Given the description of an element on the screen output the (x, y) to click on. 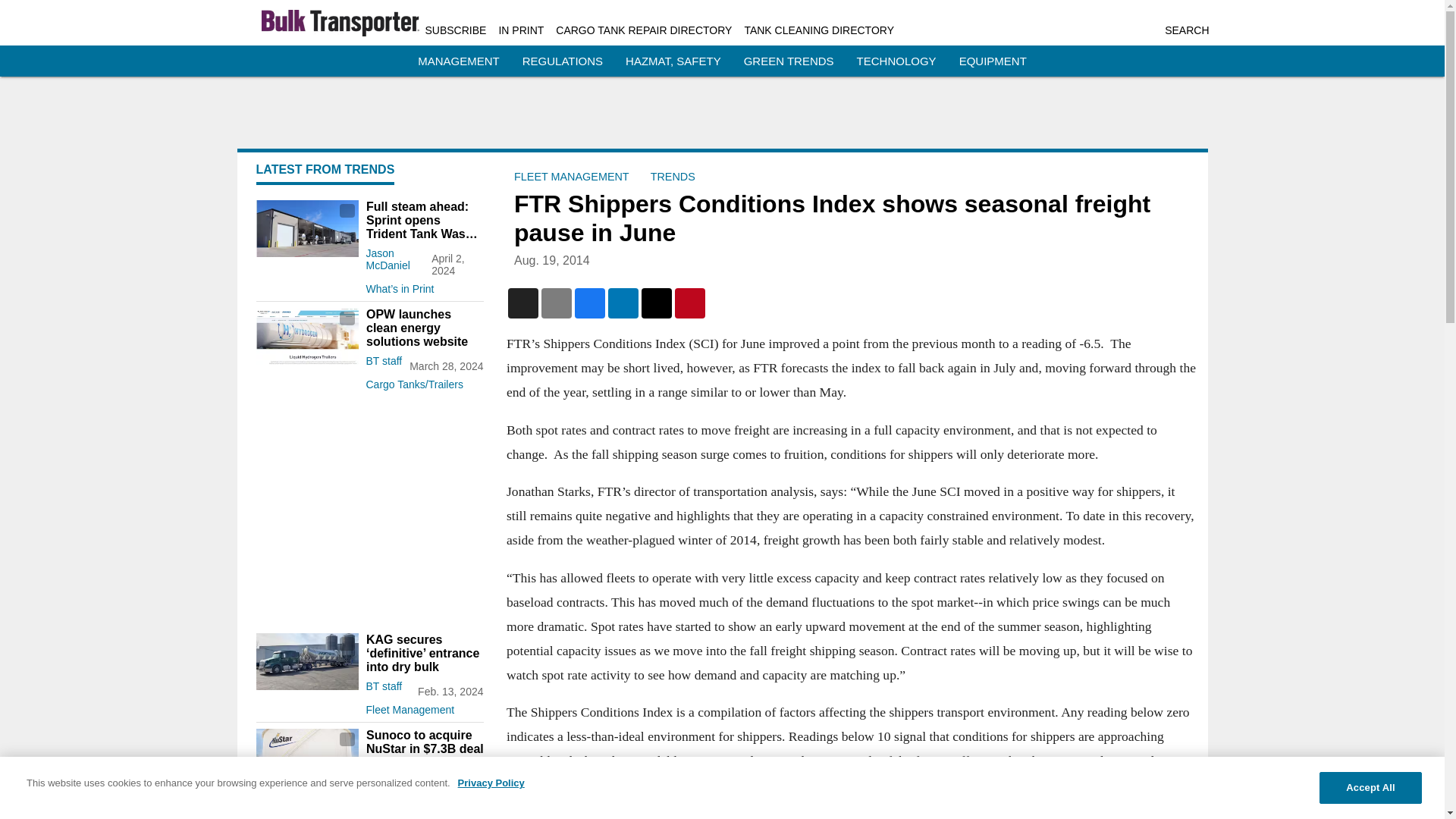
TECHNOLOGY (896, 60)
MANAGEMENT (458, 60)
TANK CLEANING DIRECTORY (818, 30)
SUBSCRIBE (455, 30)
SEARCH (1186, 30)
HAZMAT, SAFETY (673, 60)
IN PRINT (520, 30)
Jason McDaniel (387, 259)
OPW launches clean energy solutions website (424, 327)
EQUIPMENT (992, 60)
GREEN TRENDS (789, 60)
CARGO TANK REPAIR DIRECTORY (644, 30)
BT staff (383, 767)
BT staff (383, 686)
REGULATIONS (562, 60)
